Given the description of an element on the screen output the (x, y) to click on. 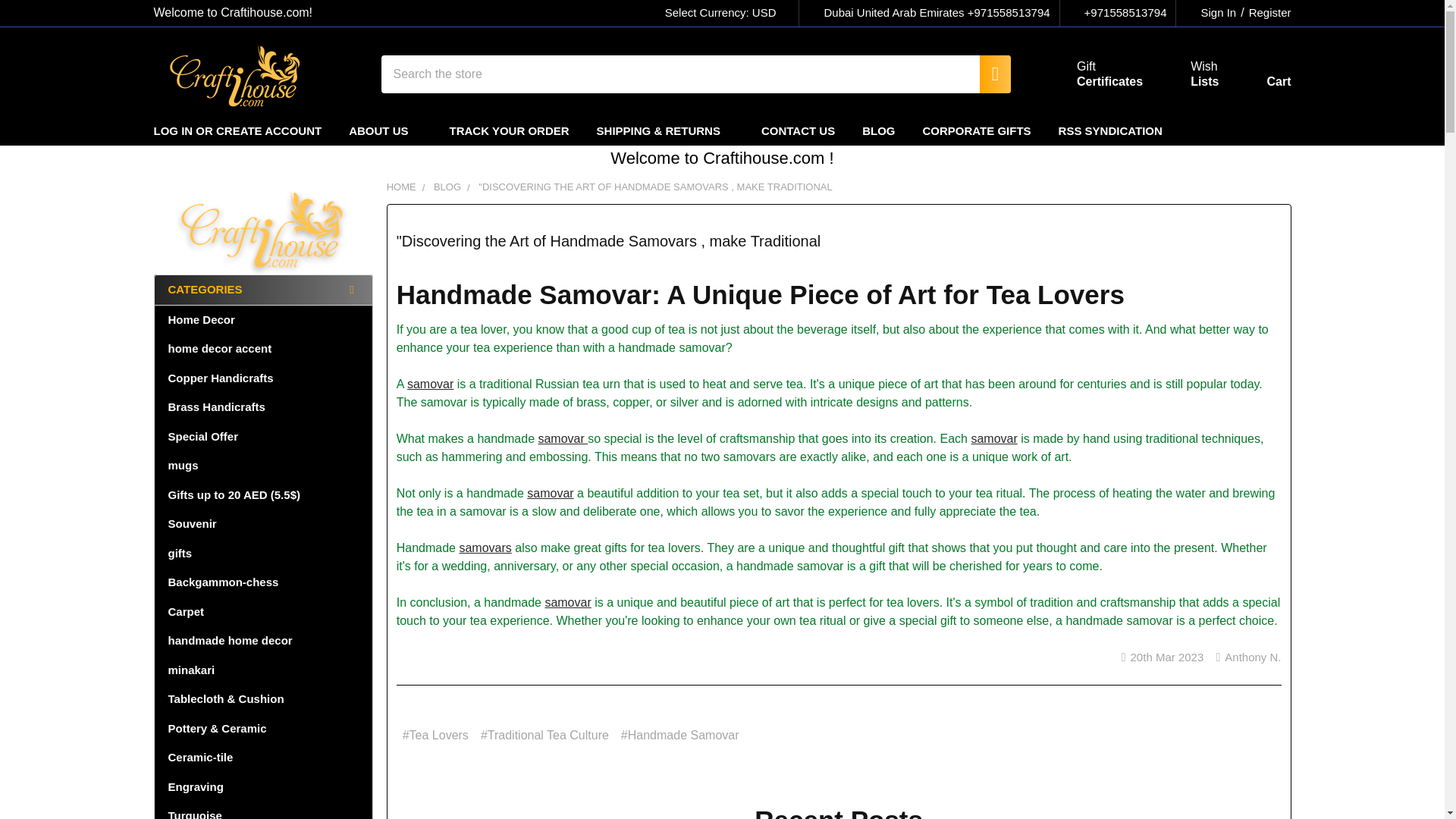
Search (727, 13)
Gift Certificates (1091, 73)
Register (986, 74)
Wish Lists (1091, 73)
Sign In (1265, 13)
Cart (1186, 73)
Craftihouse.com (1186, 73)
